Given the description of an element on the screen output the (x, y) to click on. 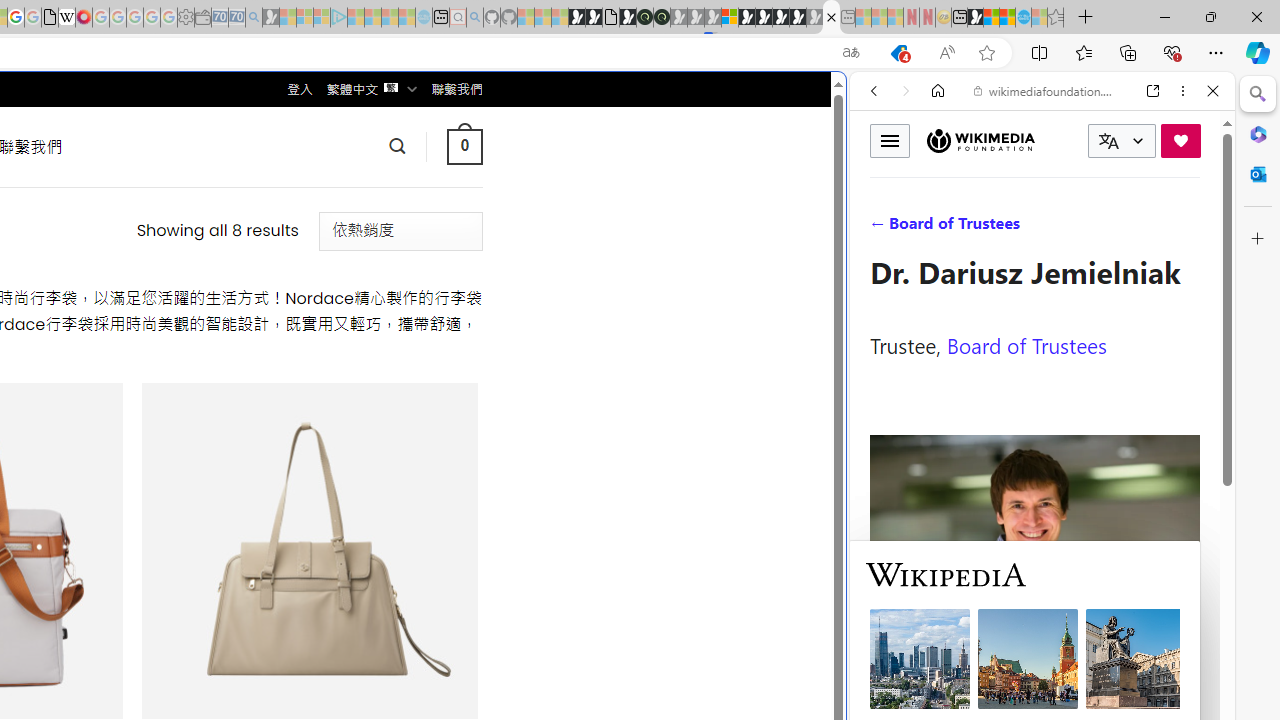
This site has coupons! Shopping in Microsoft Edge, 4 (898, 53)
Frequently visited (418, 265)
